Given the description of an element on the screen output the (x, y) to click on. 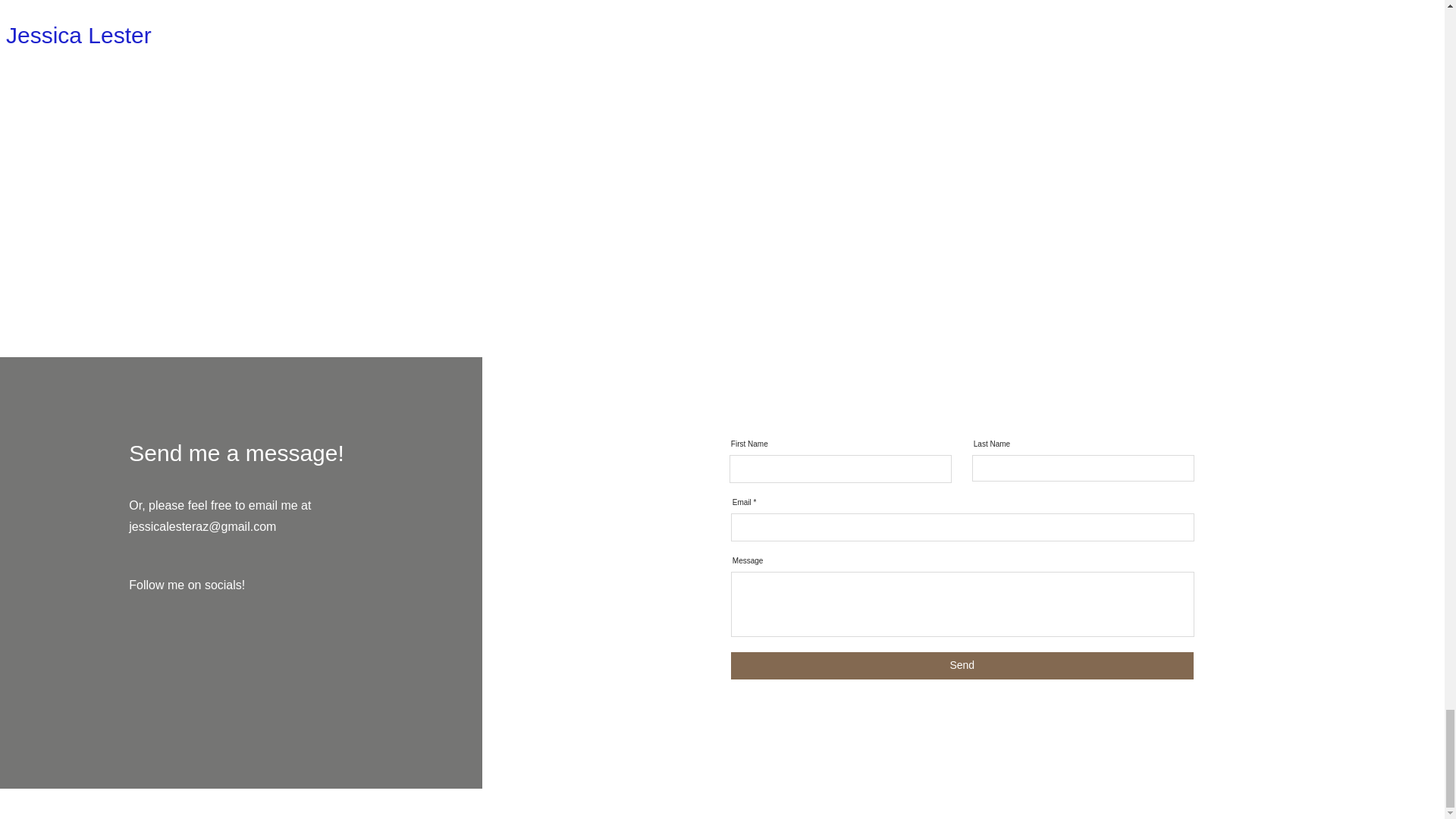
Send (961, 665)
